Given the description of an element on the screen output the (x, y) to click on. 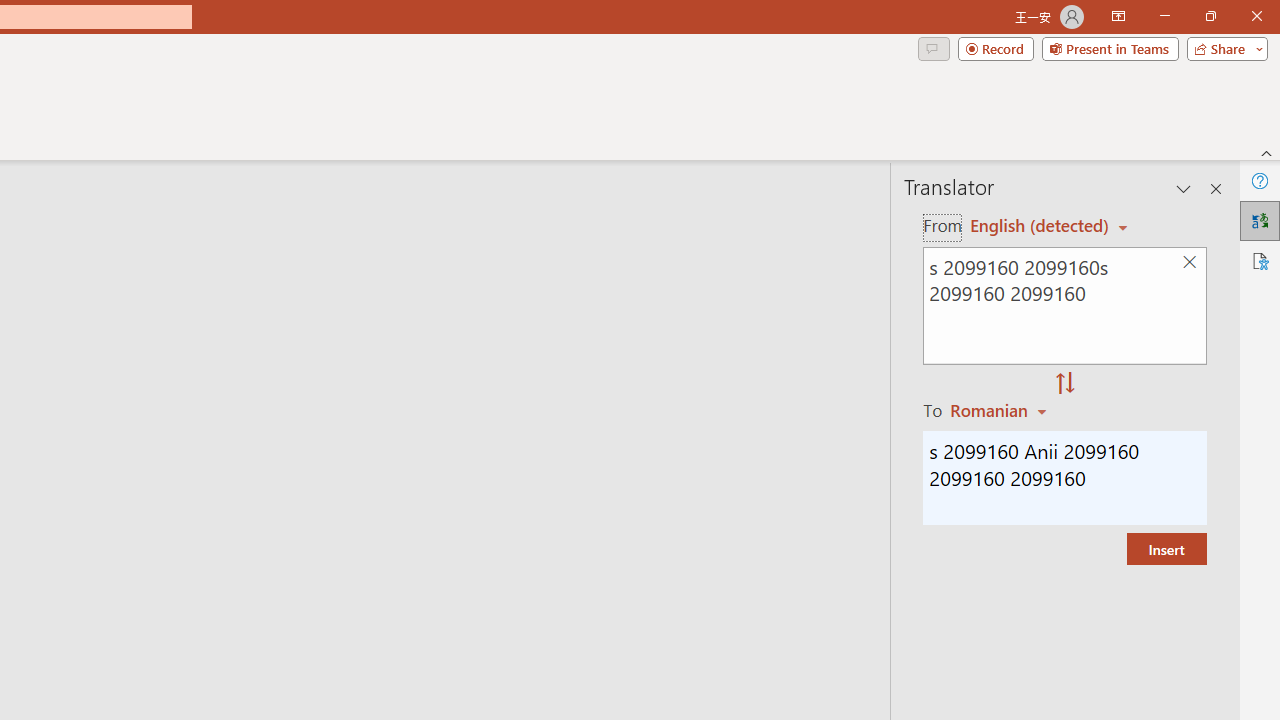
Romanian (1001, 409)
Clear text (1189, 262)
Swap "from" and "to" languages. (1065, 383)
